Given the description of an element on the screen output the (x, y) to click on. 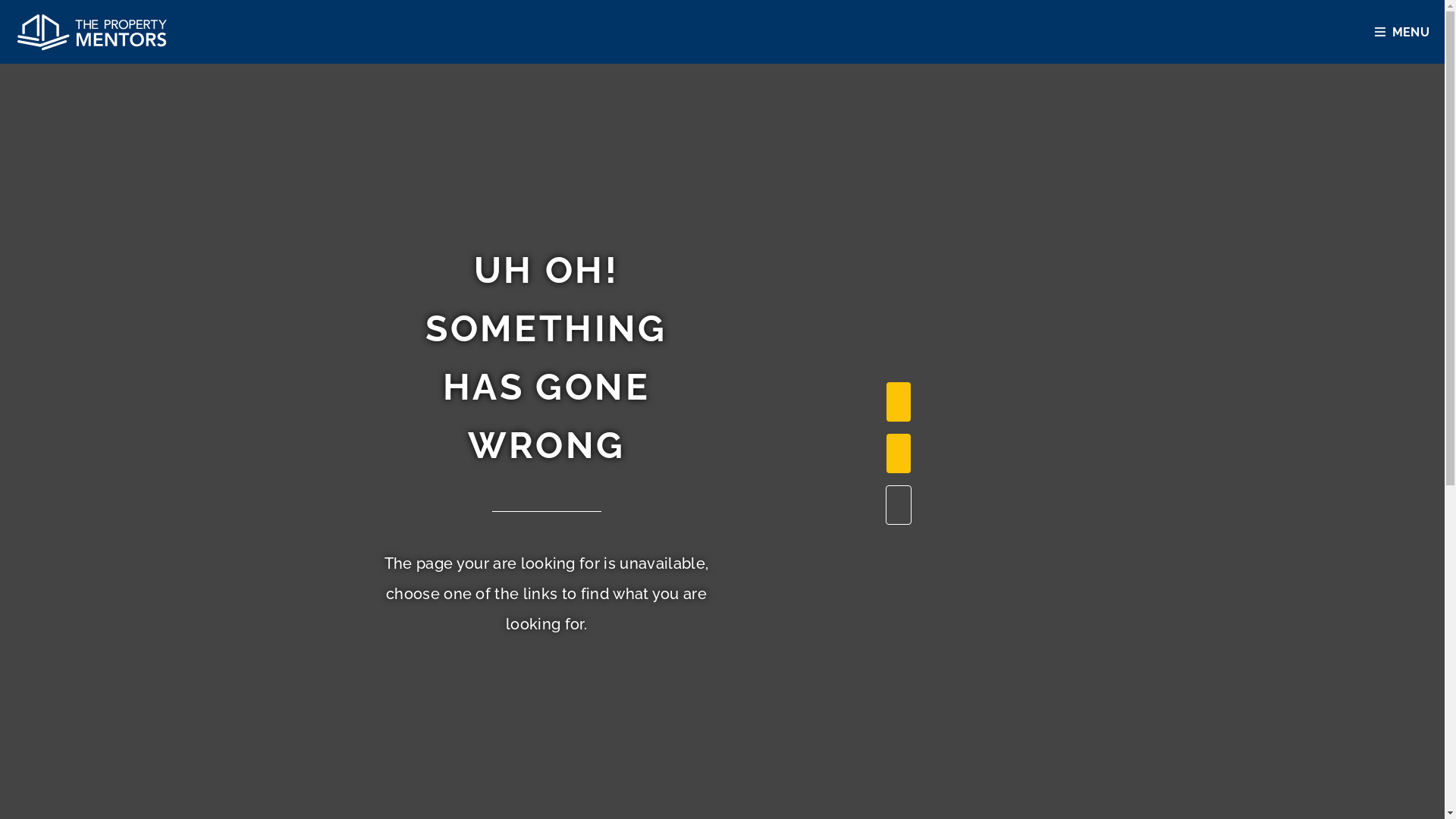
MENU Element type: text (1404, 32)
